Given the description of an element on the screen output the (x, y) to click on. 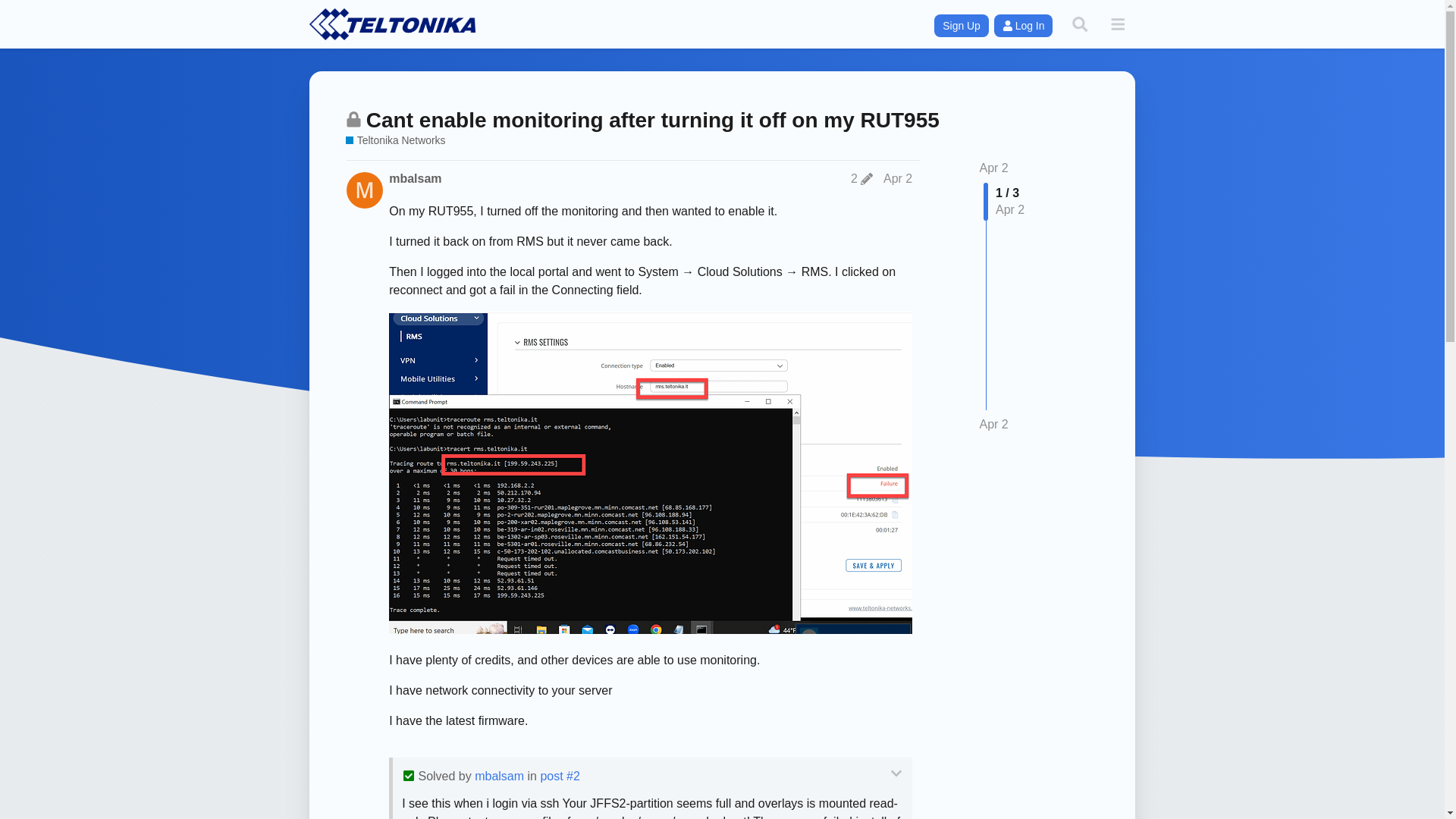
mbalsam (499, 775)
mbalsam (414, 178)
Apr 2 (897, 178)
2 (861, 178)
Post date (897, 178)
Apr 2 (994, 424)
Log In (1023, 25)
Search (1079, 23)
Jump to the last post (994, 423)
Apr 2 (994, 167)
Cant enable monitoring after turning it off on my RUT955 (652, 119)
menu (1117, 23)
Jump to the first post (994, 167)
